Given the description of an element on the screen output the (x, y) to click on. 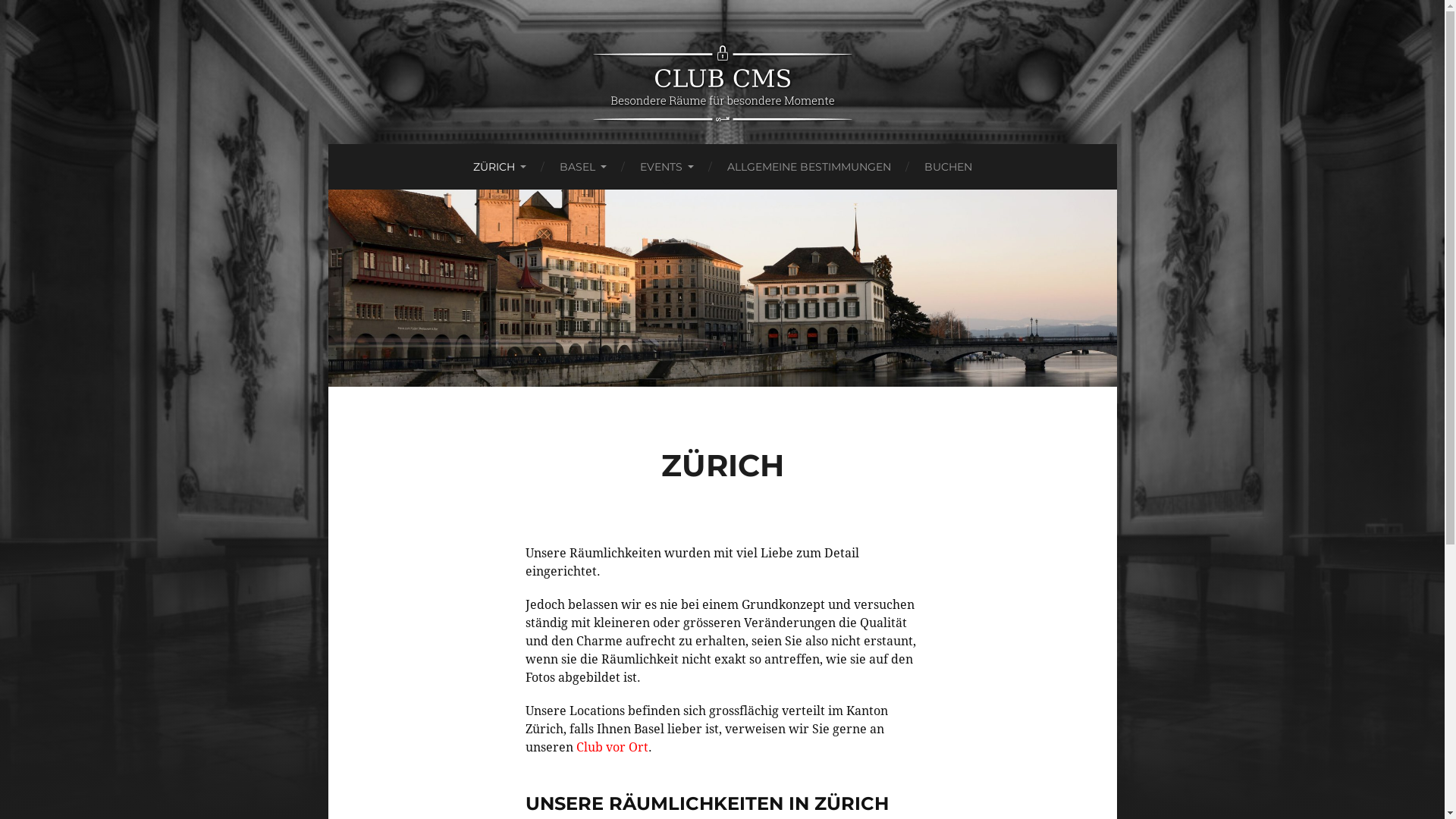
ALLGEMEINE BESTIMMUNGEN Element type: text (808, 166)
BUCHEN Element type: text (947, 166)
EVENTS Element type: text (666, 166)
BASEL Element type: text (582, 166)
Club vor Ort Element type: text (612, 747)
